Given the description of an element on the screen output the (x, y) to click on. 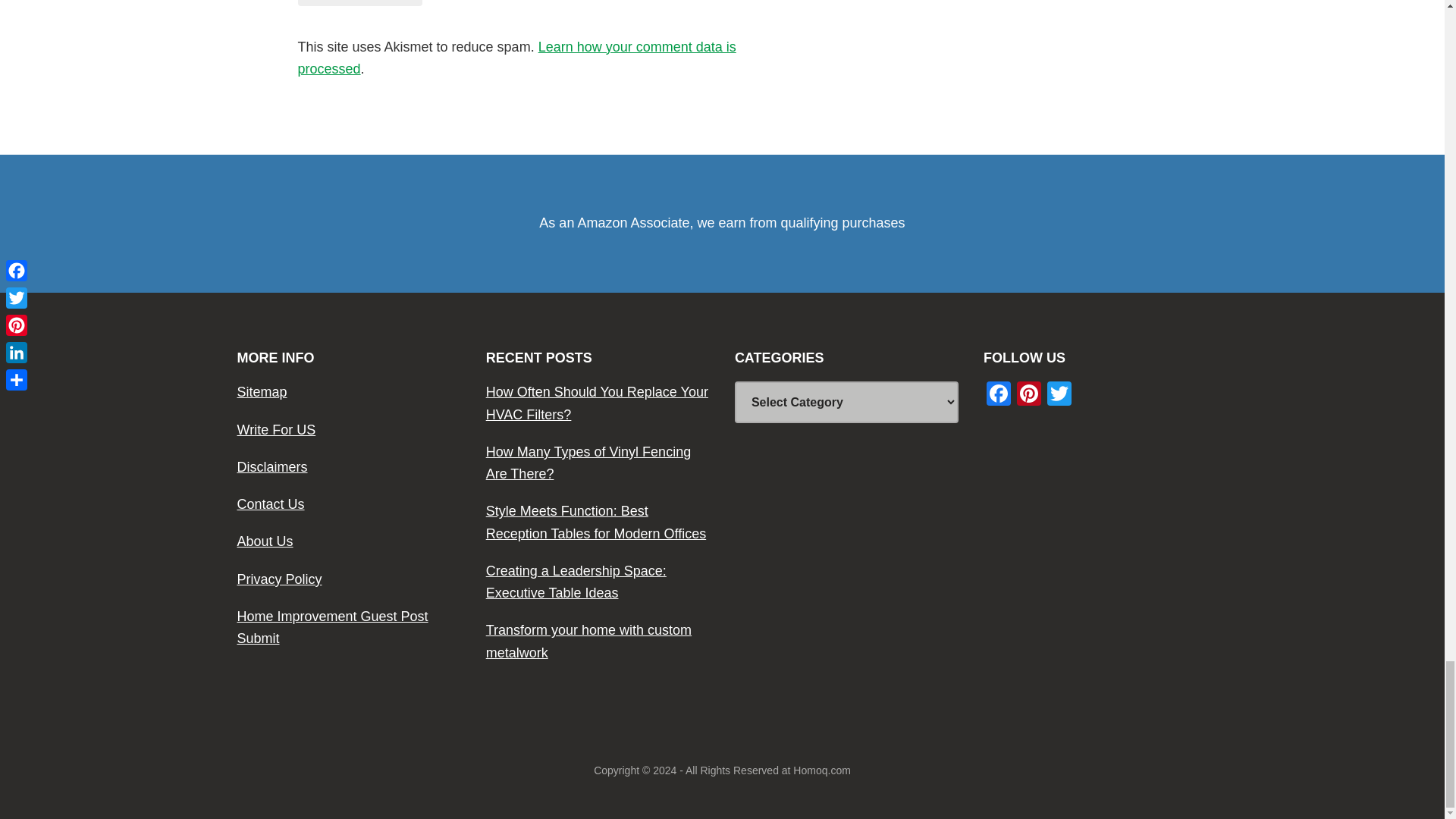
Facebook (998, 395)
Twitter (1058, 395)
Post Comment (359, 2)
Pinterest (1028, 395)
